Given the description of an element on the screen output the (x, y) to click on. 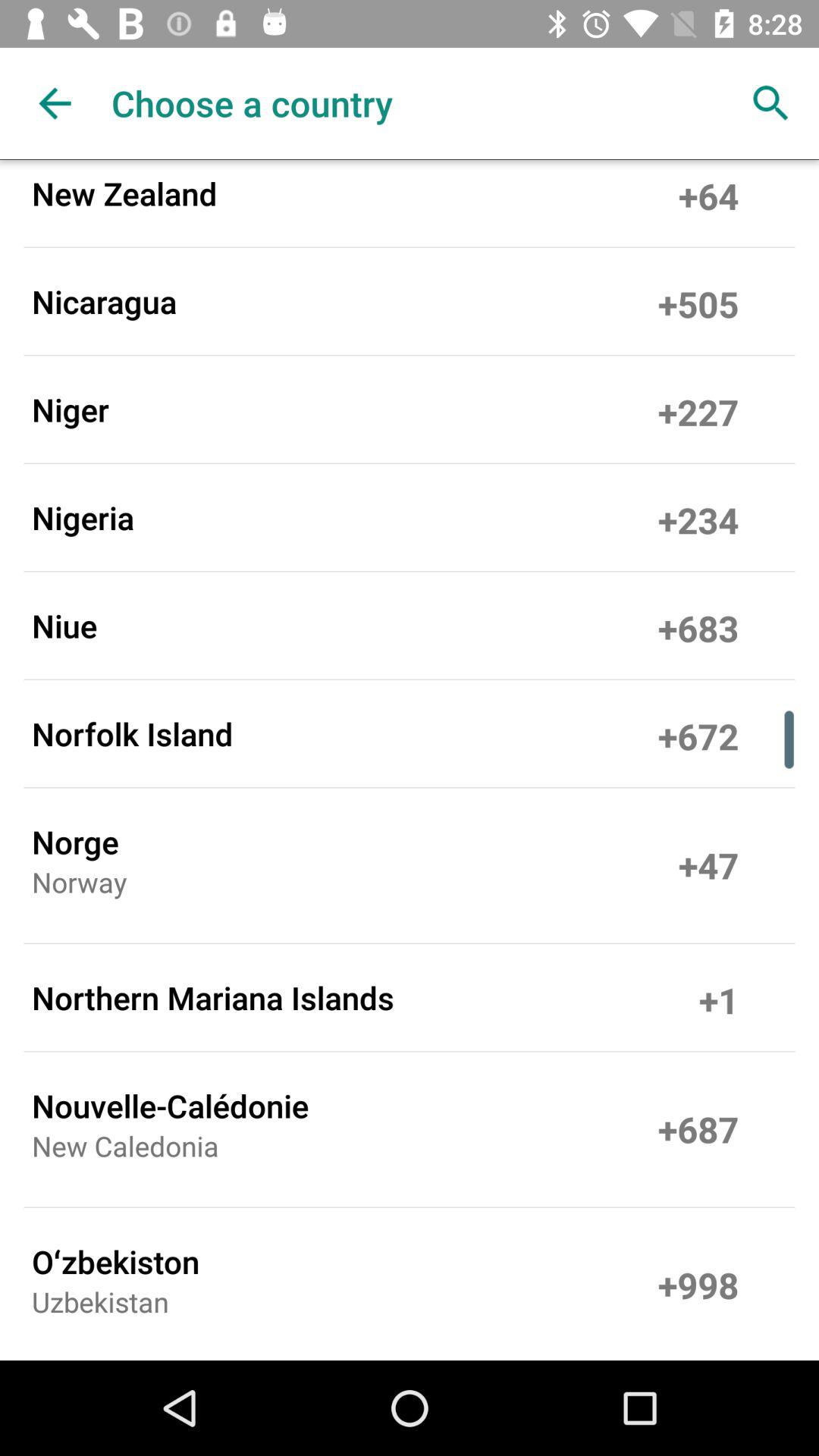
press the item below the norfolk island (74, 841)
